Given the description of an element on the screen output the (x, y) to click on. 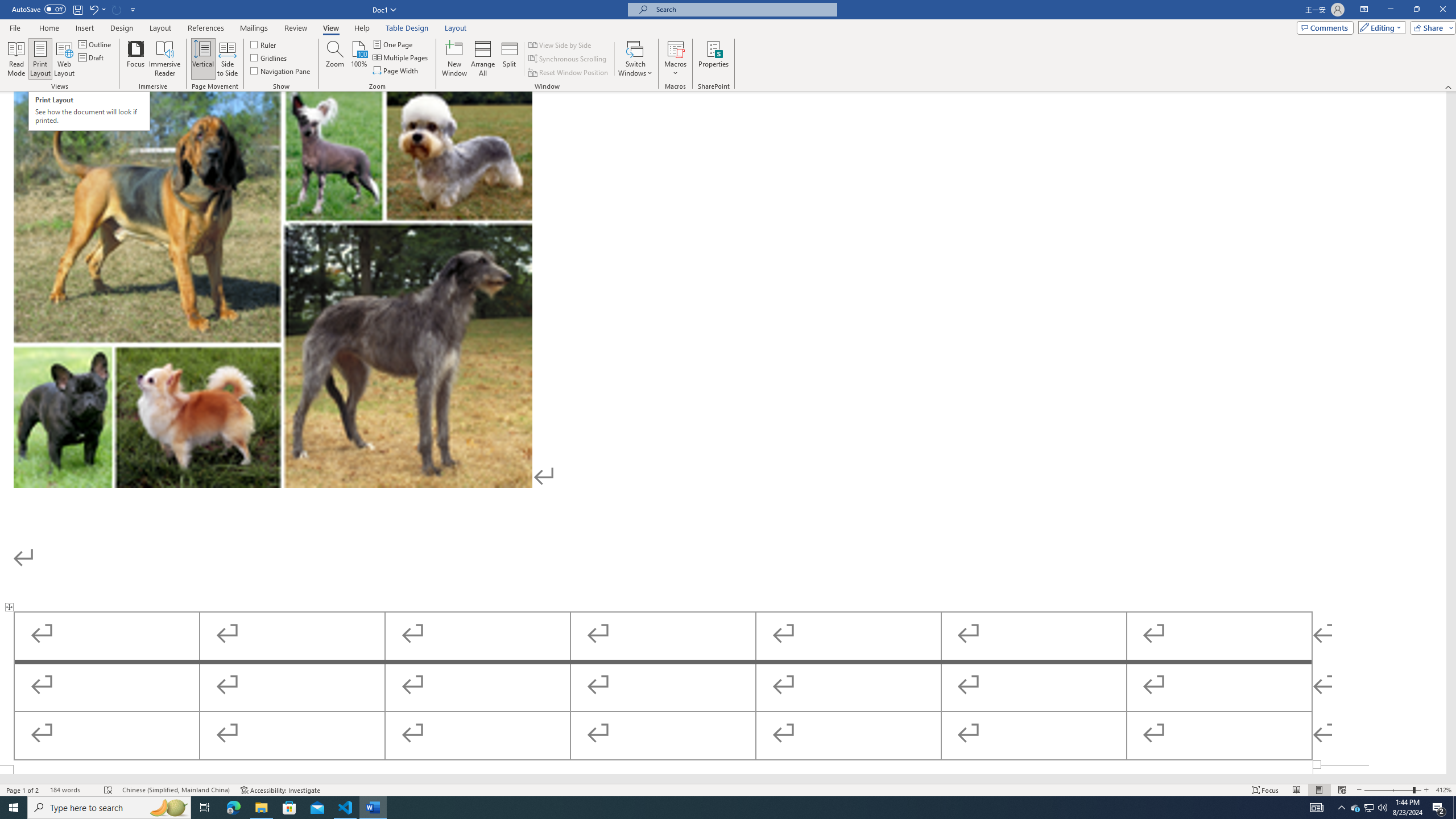
Focus (135, 58)
Arrange All (483, 58)
Split (509, 58)
View Macros (675, 48)
Navigation Pane (281, 69)
Page Number Page 1 of 2 (22, 790)
Immersive Reader (165, 58)
